Given the description of an element on the screen output the (x, y) to click on. 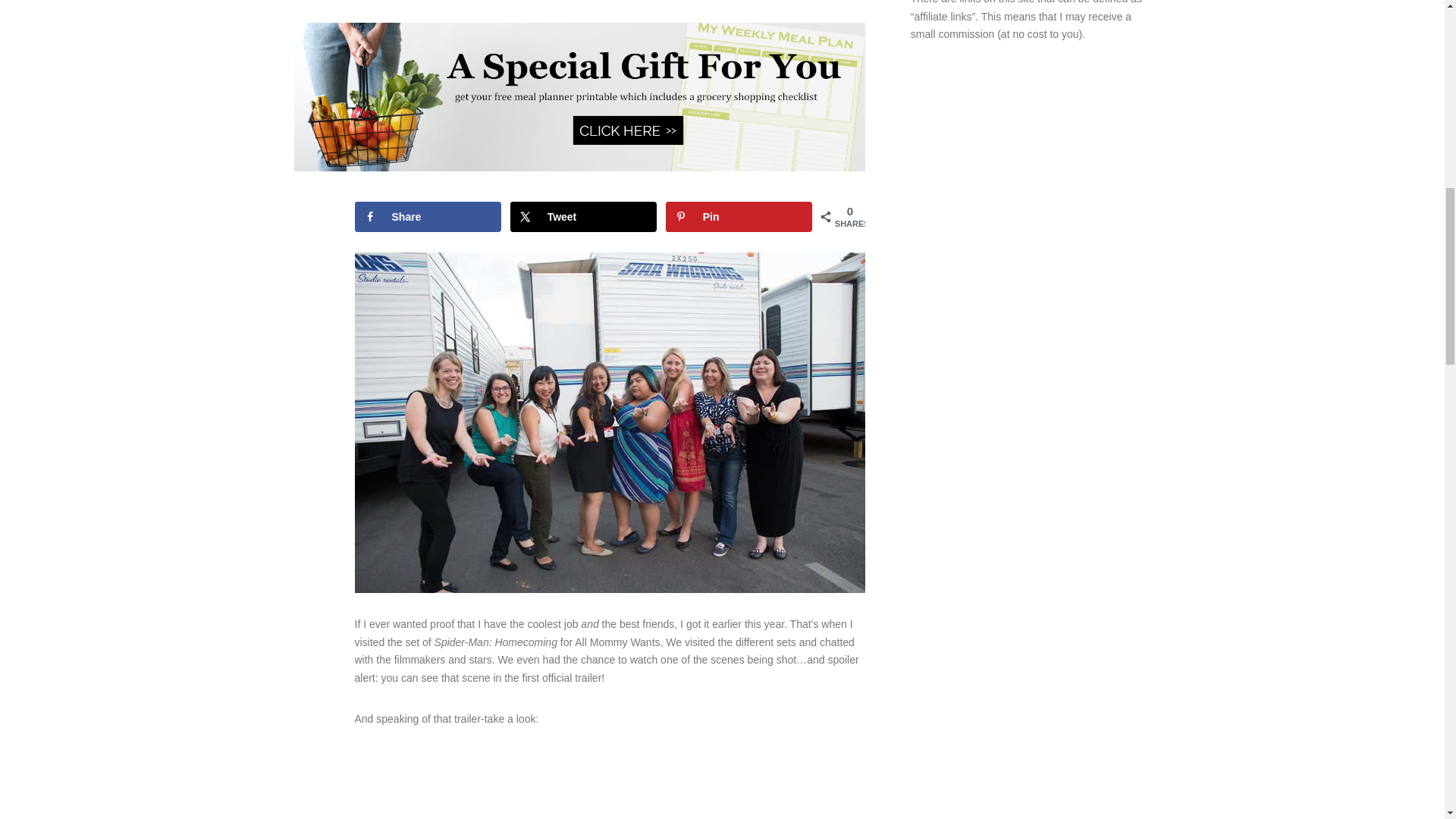
Share on Facebook (427, 216)
Share on X (583, 216)
Save to Pinterest (738, 216)
